Given the description of an element on the screen output the (x, y) to click on. 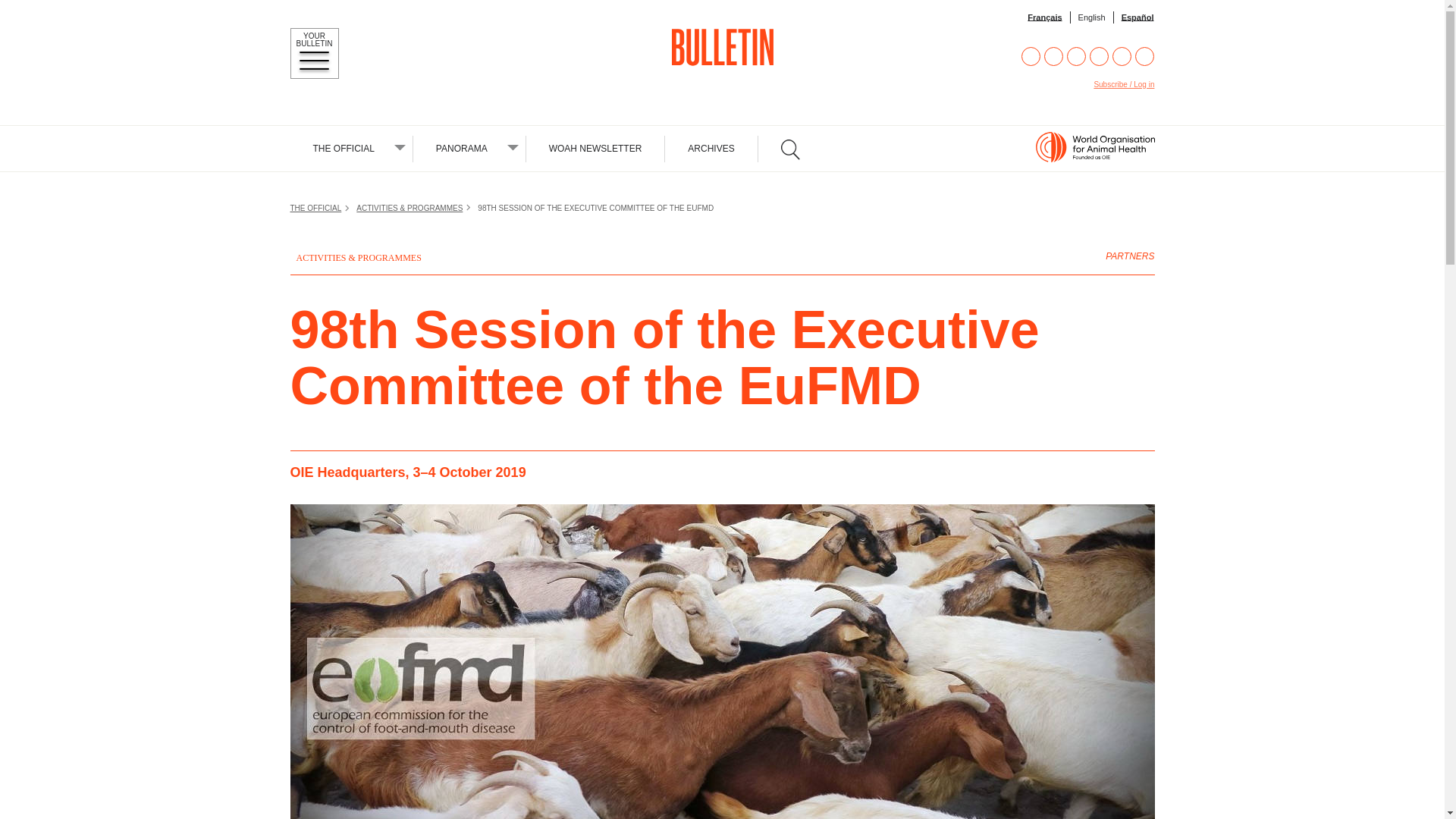
Instagram (1076, 56)
Facebook (1031, 56)
Twitter (1052, 56)
English (1091, 17)
